Given the description of an element on the screen output the (x, y) to click on. 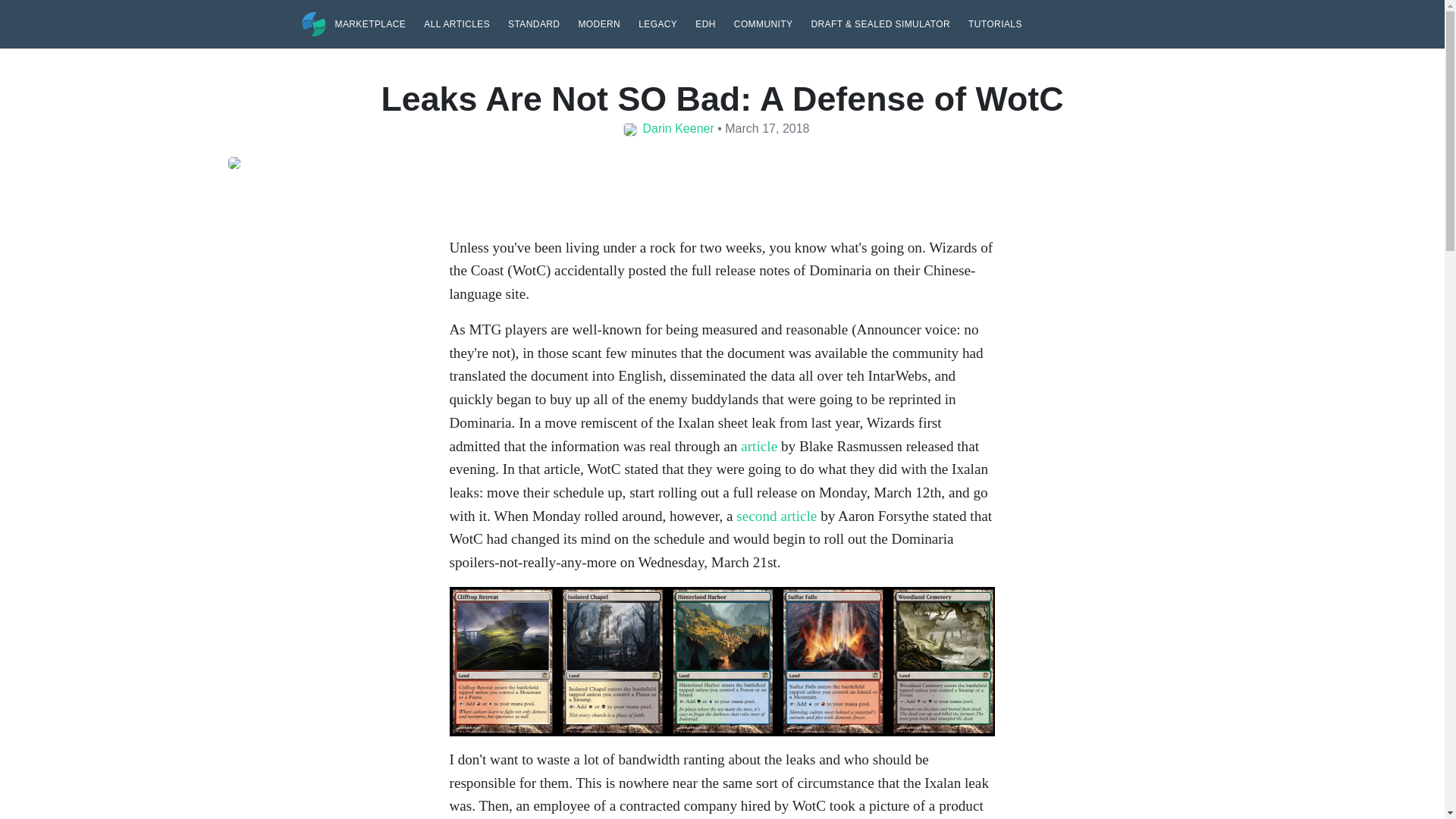
LEGACY (656, 23)
MARKETPLACE (370, 23)
COMMUNITY (763, 23)
TUTORIALS (994, 23)
second article (776, 515)
STANDARD (534, 23)
article (759, 446)
EDH (705, 23)
Darin Keener (678, 128)
MODERN (598, 23)
